Given the description of an element on the screen output the (x, y) to click on. 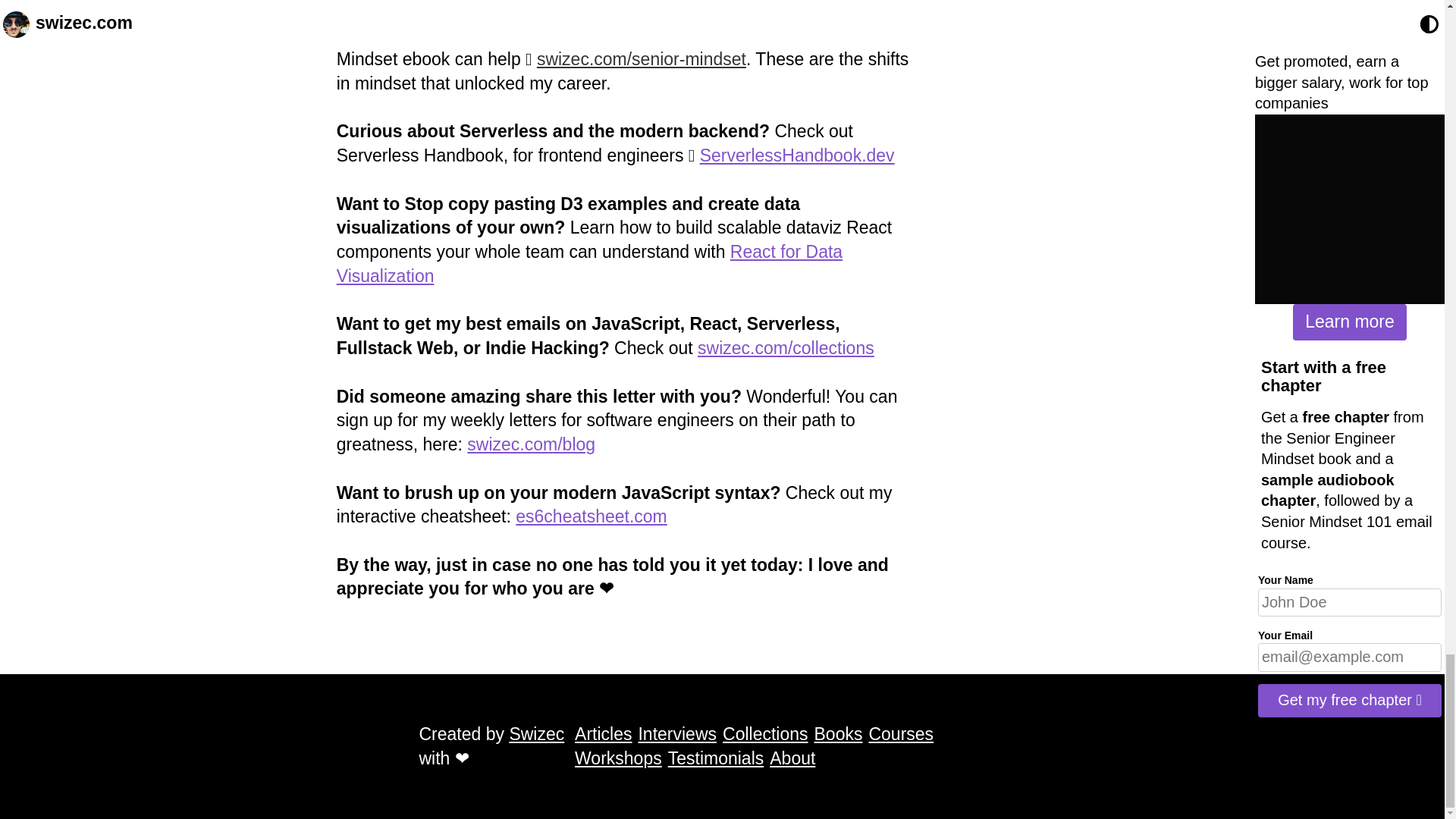
ServerlessHandbook.dev (797, 155)
